Given the description of an element on the screen output the (x, y) to click on. 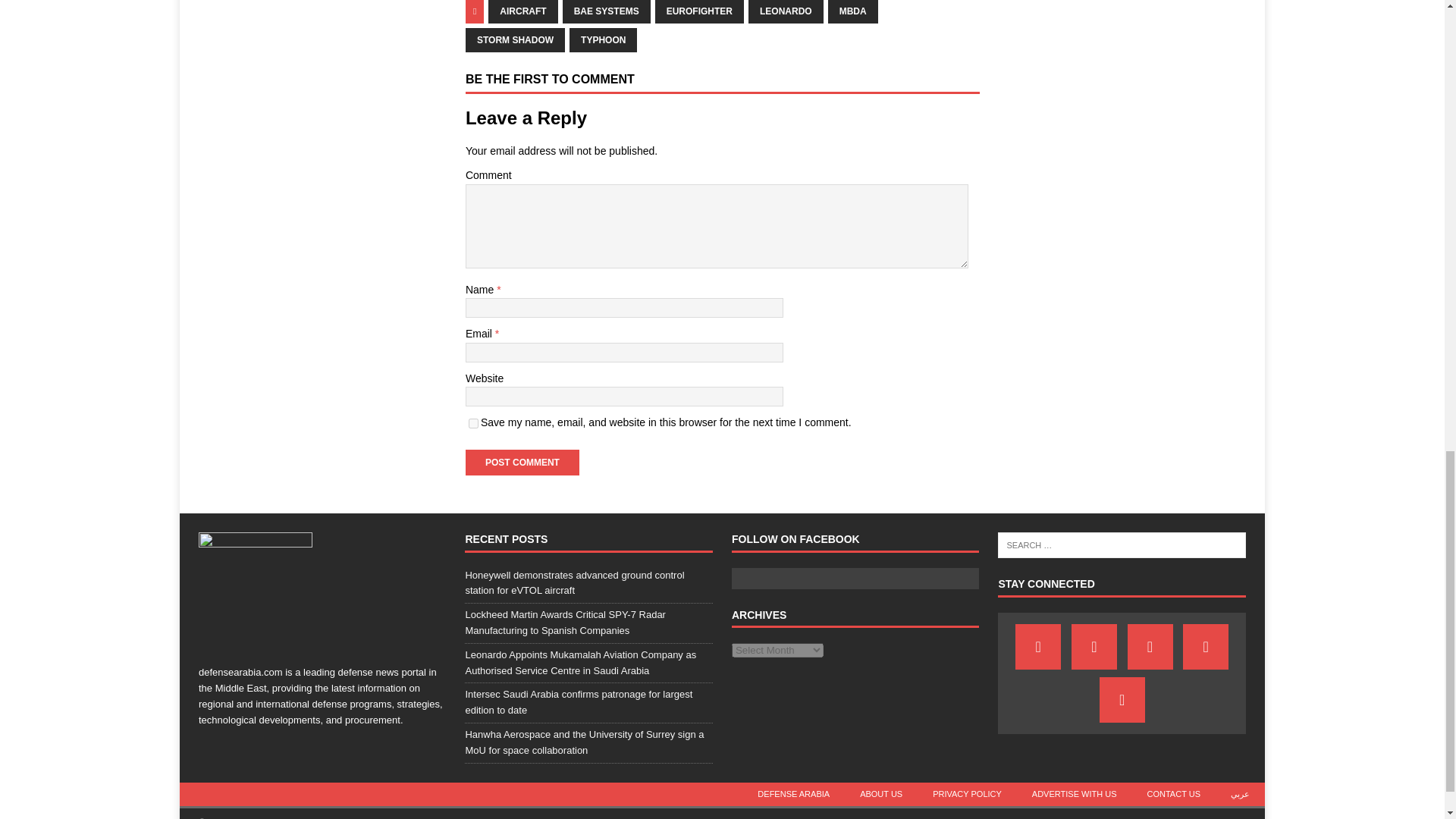
yes (473, 423)
Post Comment (522, 462)
